Given the description of an element on the screen output the (x, y) to click on. 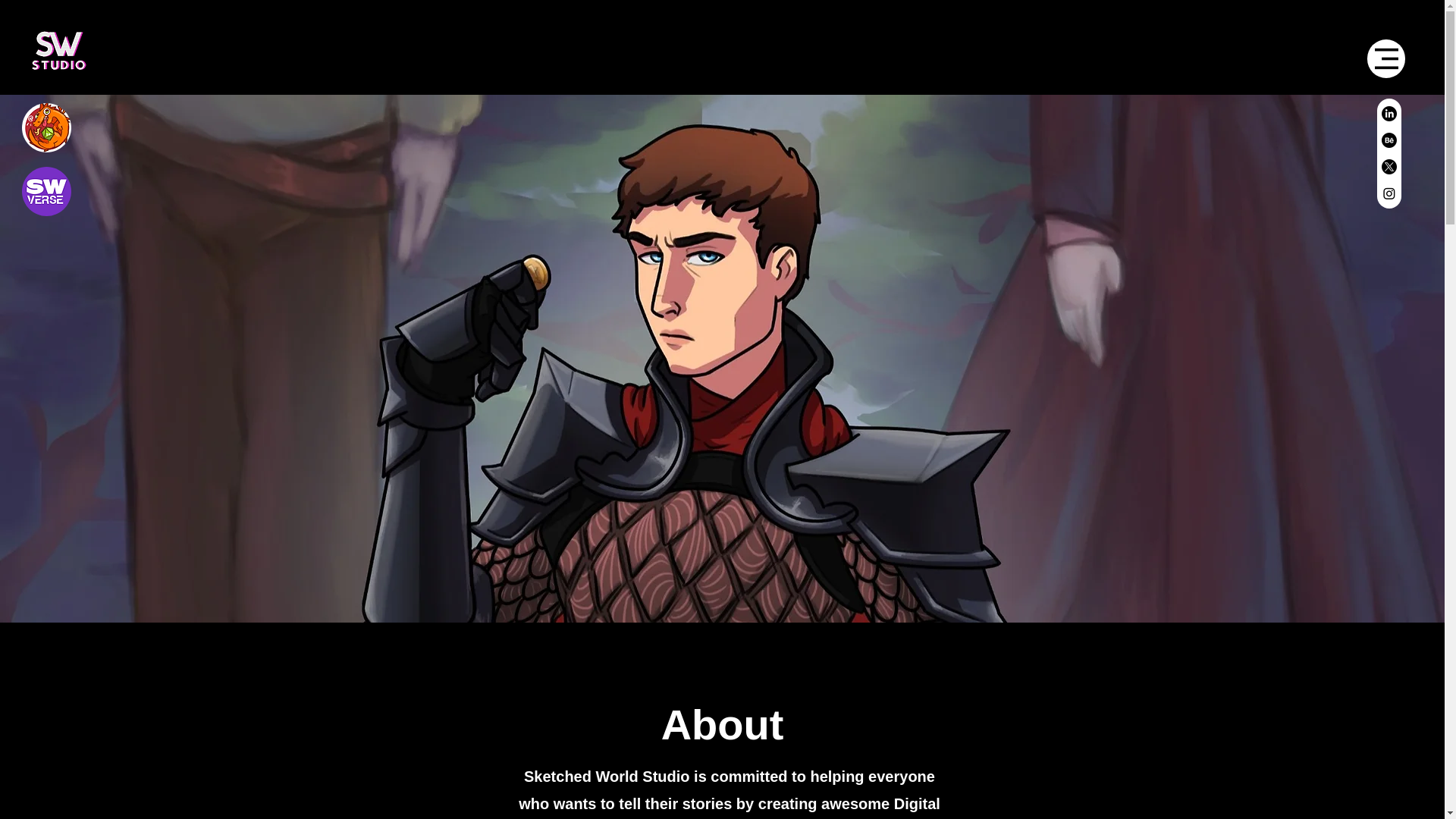
Drawing Dragons (46, 127)
